Given the description of an element on the screen output the (x, y) to click on. 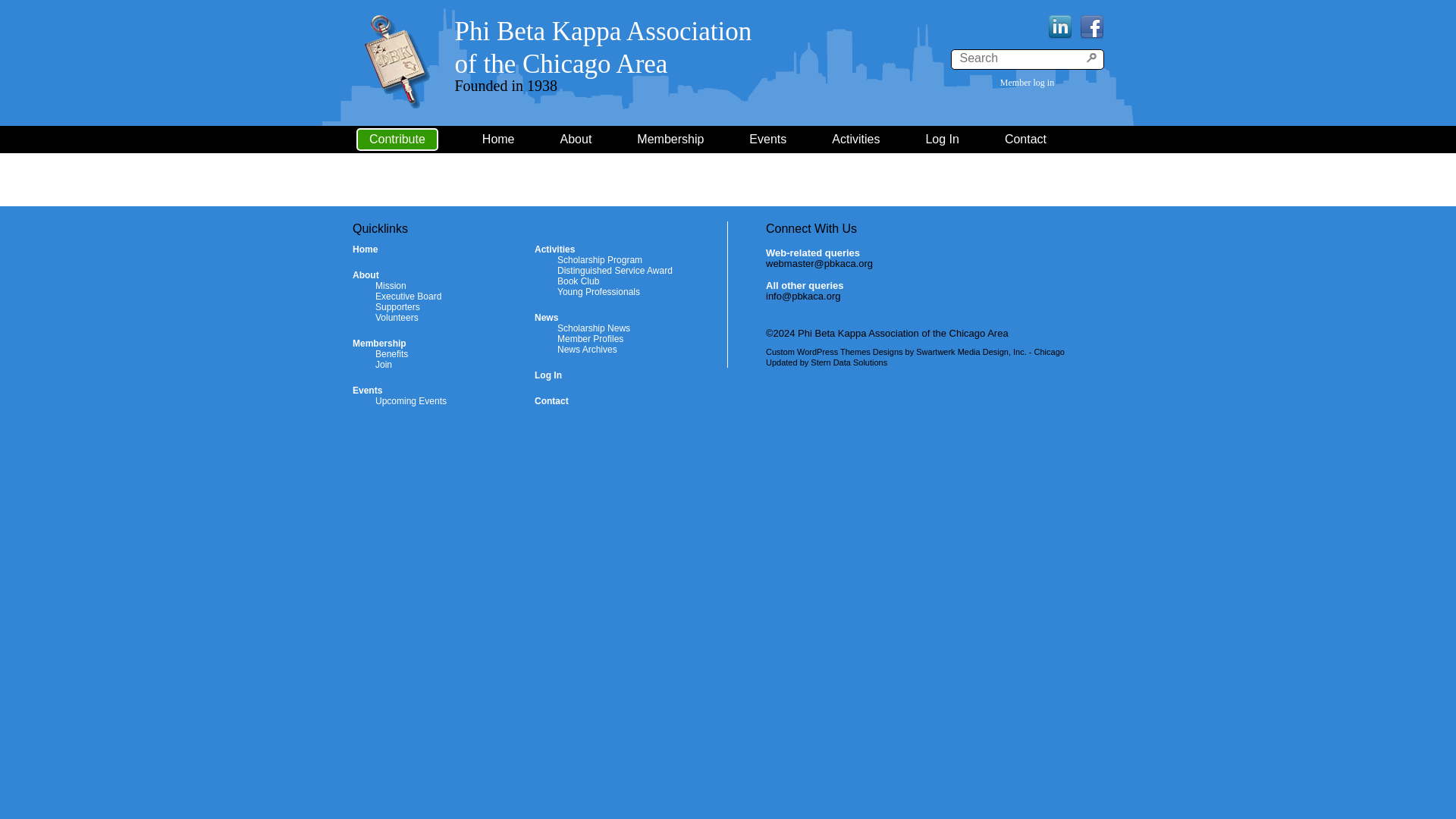
About (365, 275)
Events (783, 139)
Supporters (397, 307)
Search (1091, 57)
Contribute (397, 138)
Events (366, 389)
Membership (379, 343)
Membership (603, 47)
Contact (686, 139)
